Given the description of an element on the screen output the (x, y) to click on. 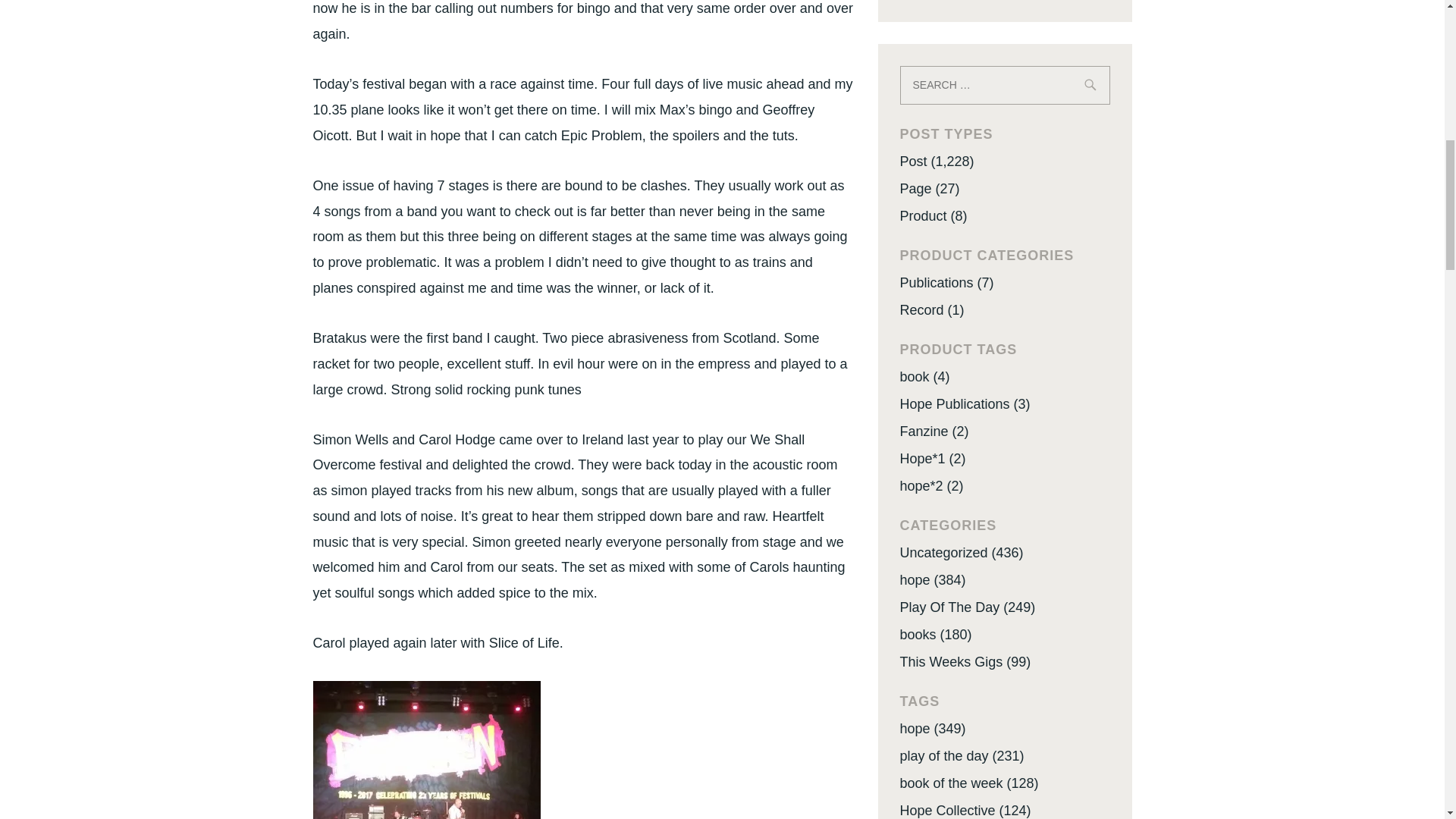
Search for: (1004, 85)
